Given the description of an element on the screen output the (x, y) to click on. 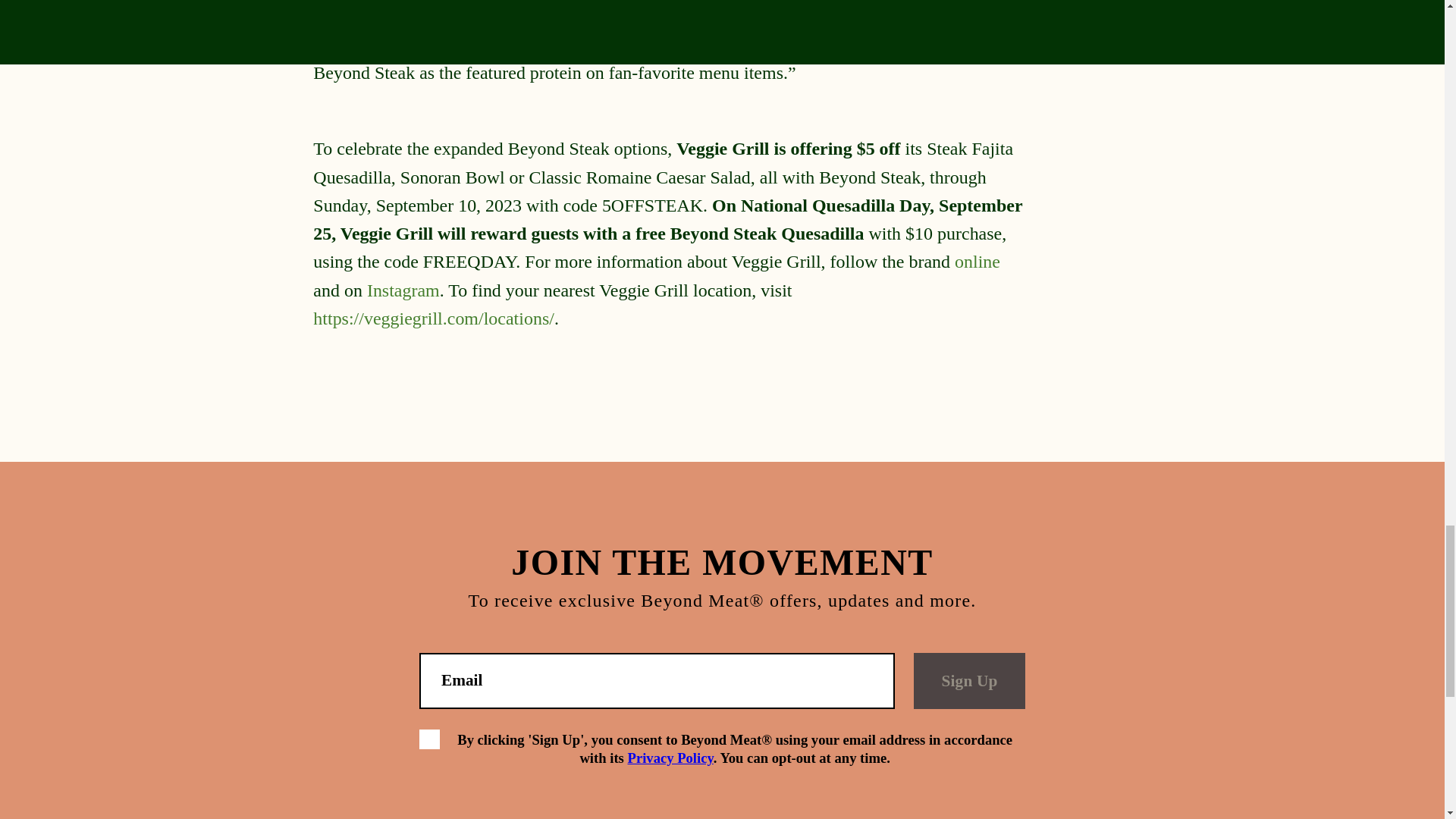
on (429, 739)
Instagram (402, 290)
Privacy Policy (670, 757)
online (977, 261)
Sign Up (969, 680)
